Given the description of an element on the screen output the (x, y) to click on. 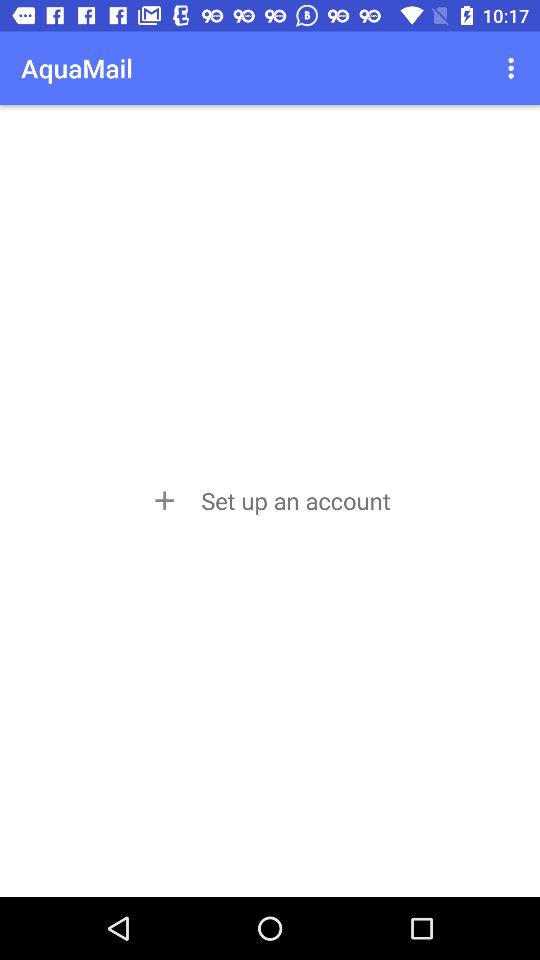
choose icon at the top right corner (513, 67)
